Given the description of an element on the screen output the (x, y) to click on. 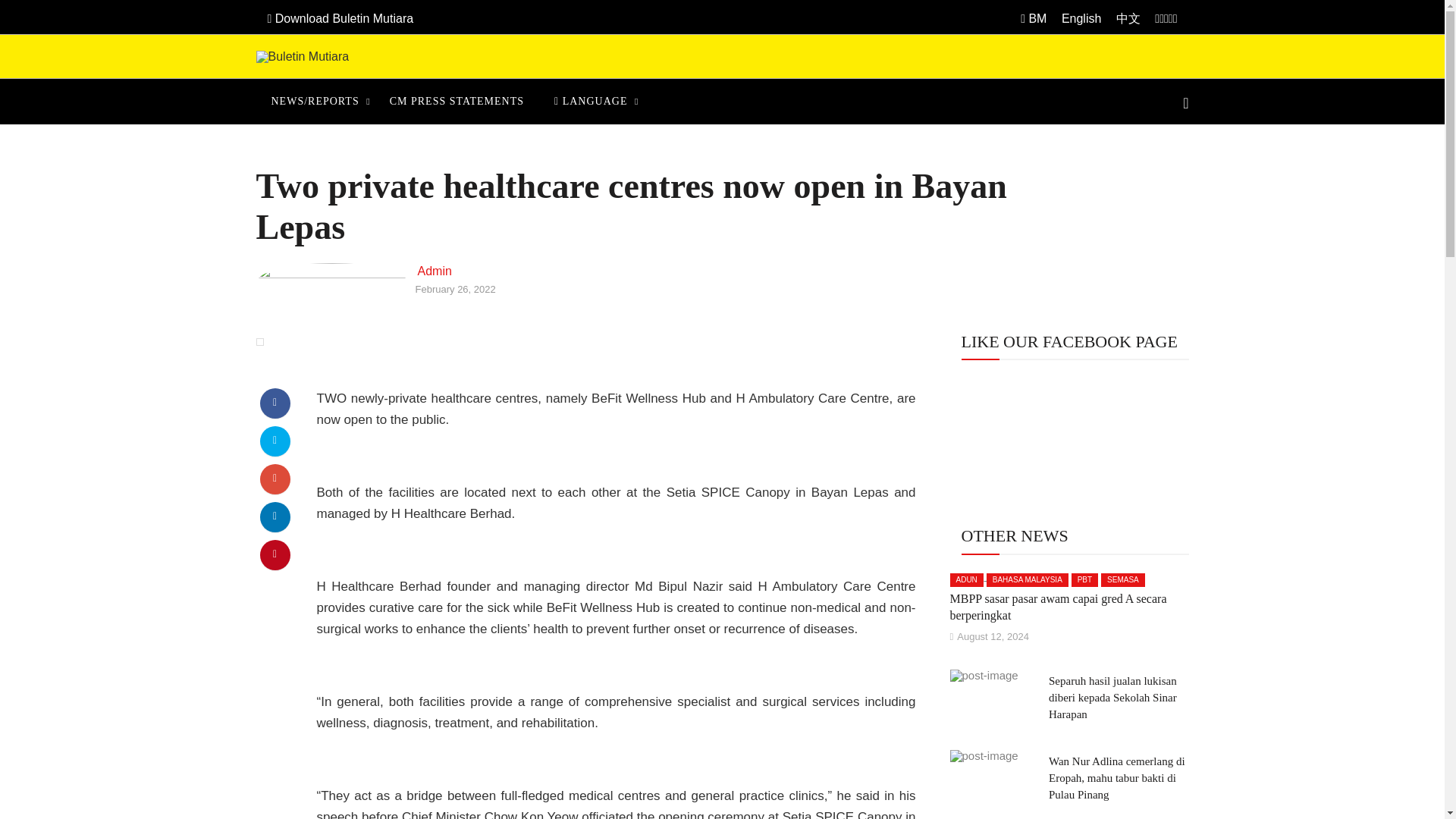
English (1080, 18)
February 26, 2022 (455, 288)
BM (1033, 18)
CM PRESS STATEMENTS (456, 101)
Download Buletin Mutiara (349, 18)
LANGUAGE (590, 101)
